Given the description of an element on the screen output the (x, y) to click on. 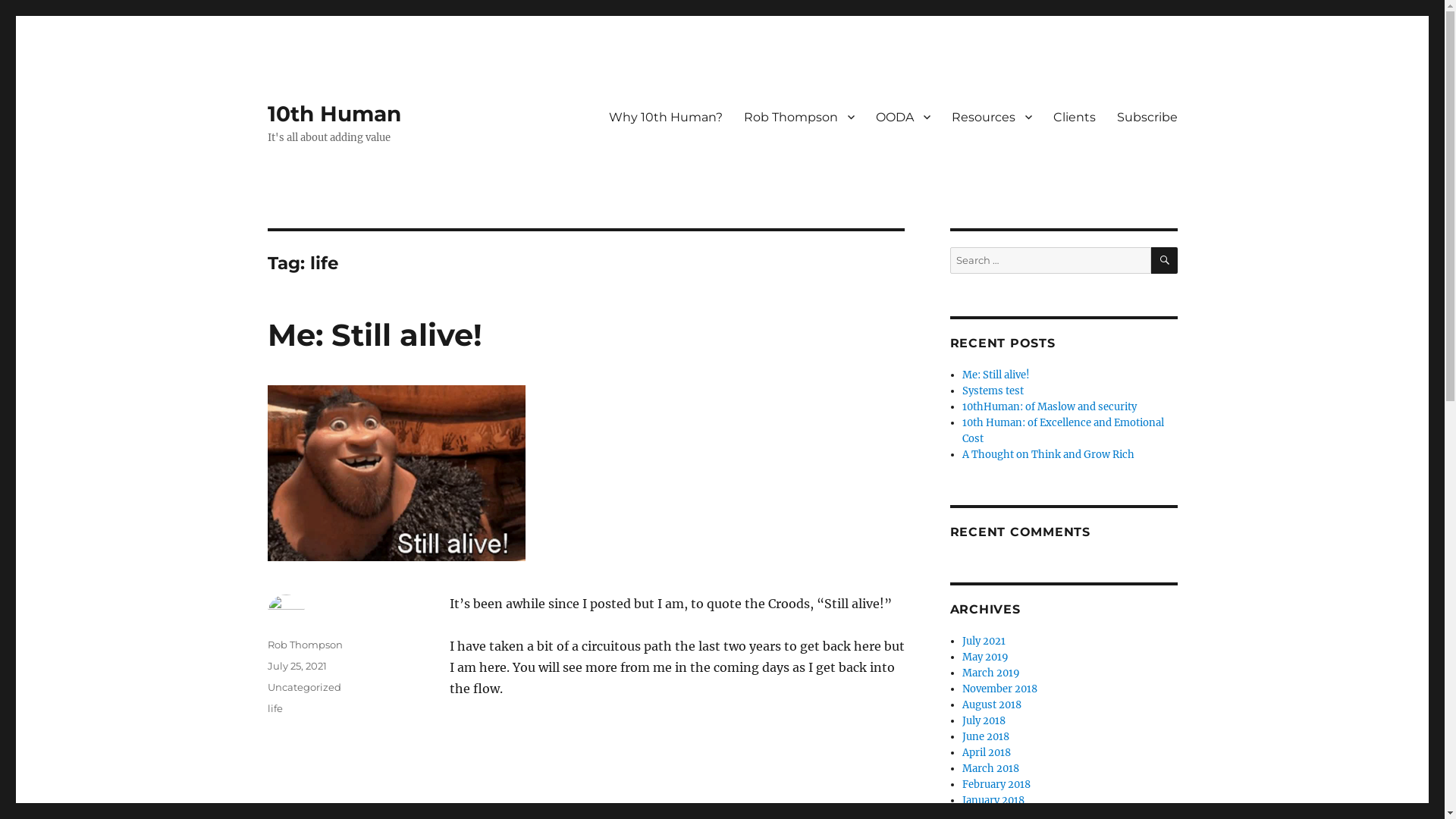
August 2018 Element type: text (991, 704)
February 2018 Element type: text (996, 784)
Clients Element type: text (1073, 116)
Me: Still alive! Element type: text (373, 334)
Rob Thompson Element type: text (304, 644)
OODA Element type: text (902, 116)
July 2018 Element type: text (983, 720)
Uncategorized Element type: text (303, 686)
SEARCH Element type: text (1164, 260)
10thHuman: of Maslow and security Element type: text (1049, 406)
June 2018 Element type: text (985, 736)
January 2018 Element type: text (993, 799)
Systems test Element type: text (992, 390)
Resources Element type: text (990, 116)
July 2021 Element type: text (983, 640)
10th Human: of Excellence and Emotional Cost Element type: text (1063, 430)
A Thought on Think and Grow Rich Element type: text (1048, 454)
Me: Still alive! Element type: text (995, 374)
10th Human Element type: text (333, 113)
July 25, 2021 Element type: text (296, 665)
Why 10th Human? Element type: text (664, 116)
May 2019 Element type: text (985, 656)
April 2018 Element type: text (986, 752)
Subscribe Element type: text (1146, 116)
November 2018 Element type: text (999, 688)
life Element type: text (274, 708)
March 2019 Element type: text (990, 672)
March 2018 Element type: text (990, 768)
Rob Thompson Element type: text (798, 116)
